Given the description of an element on the screen output the (x, y) to click on. 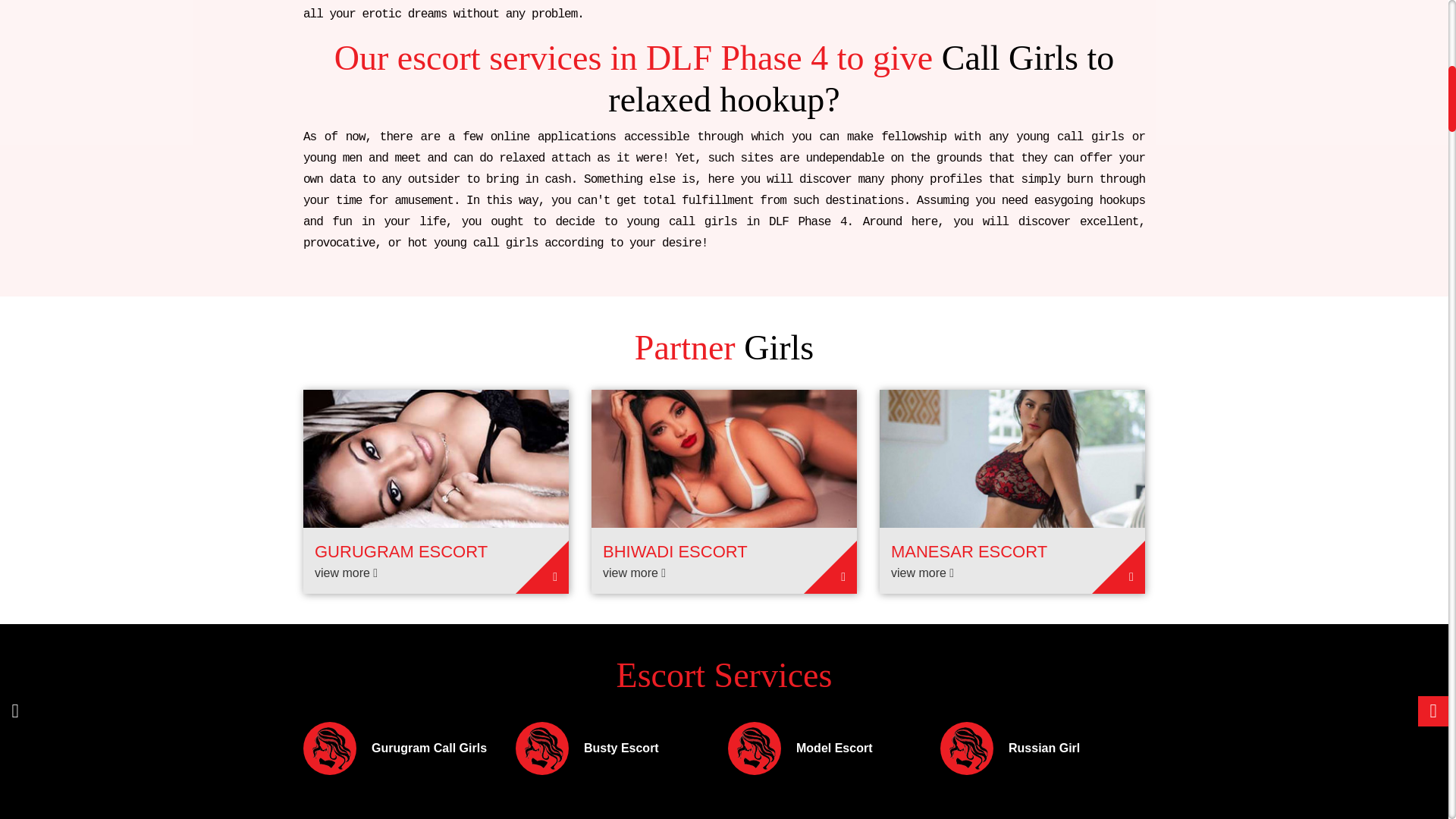
view more (633, 572)
view more (345, 572)
Gurugram Escort Services (435, 458)
Manesar Call Girls Services (1011, 458)
view more (922, 572)
